Given the description of an element on the screen output the (x, y) to click on. 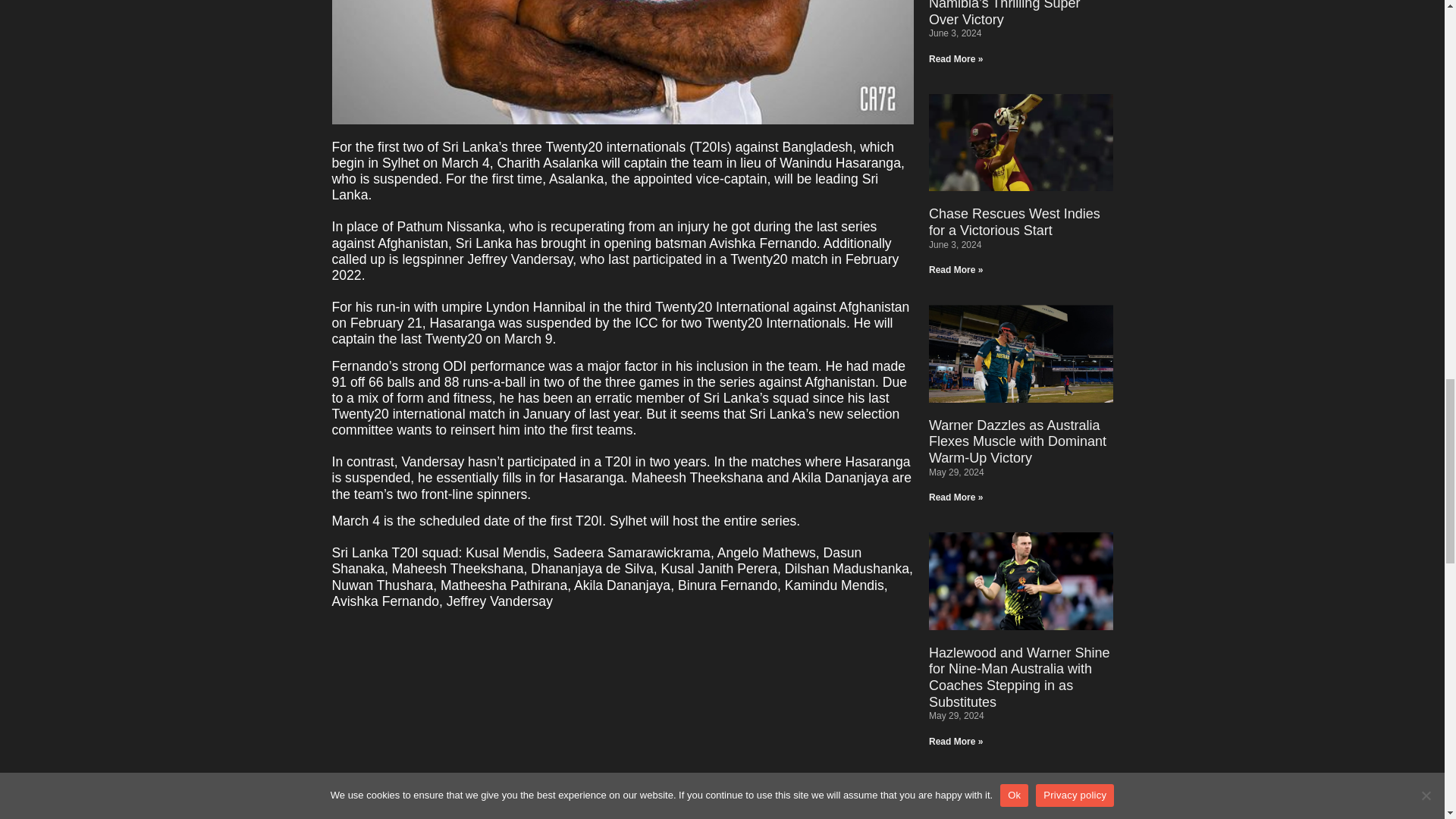
Chase Rescues West Indies for a Victorious Start (1014, 222)
